Given the description of an element on the screen output the (x, y) to click on. 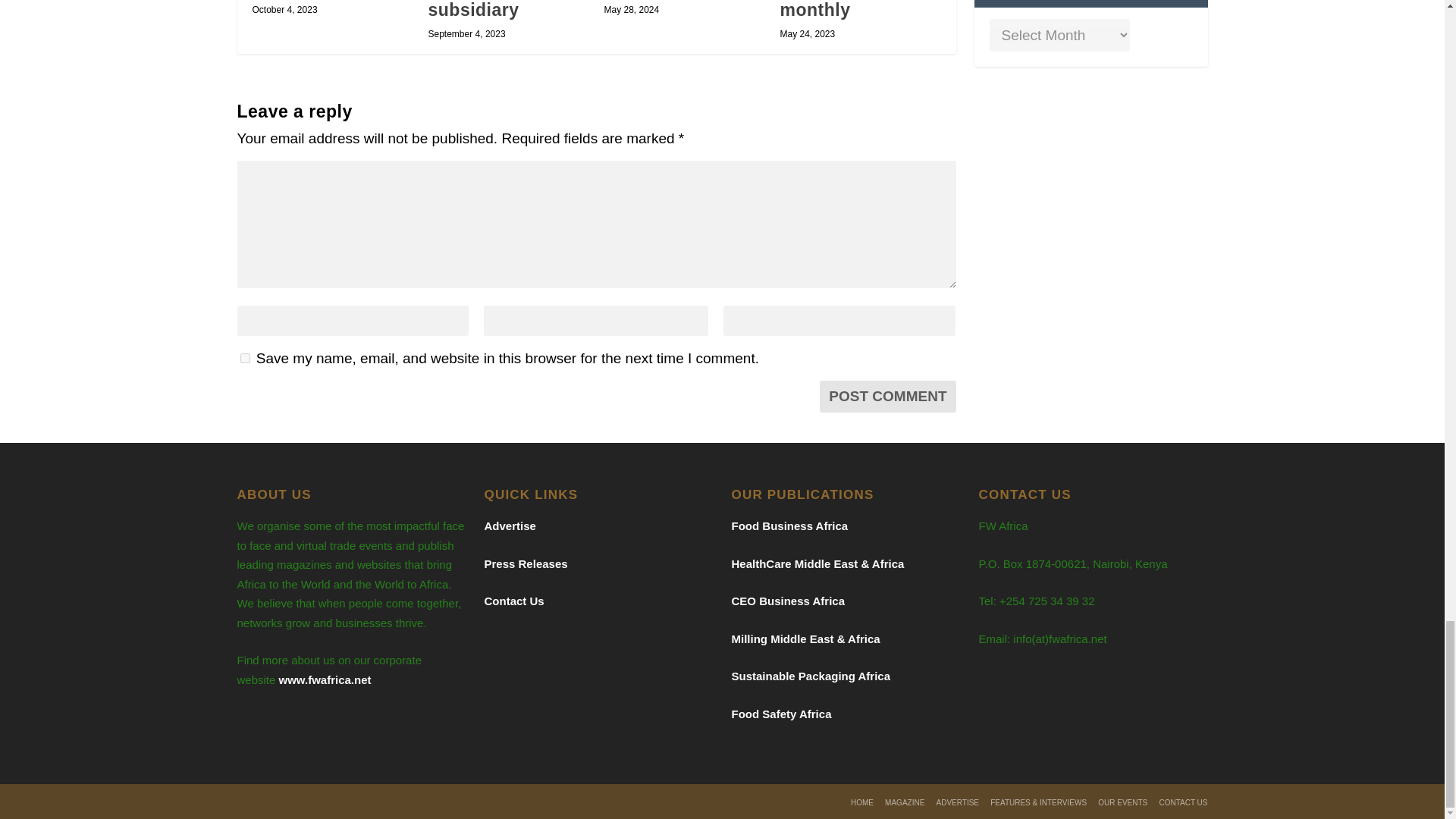
yes (244, 357)
Post Comment (887, 396)
